Given the description of an element on the screen output the (x, y) to click on. 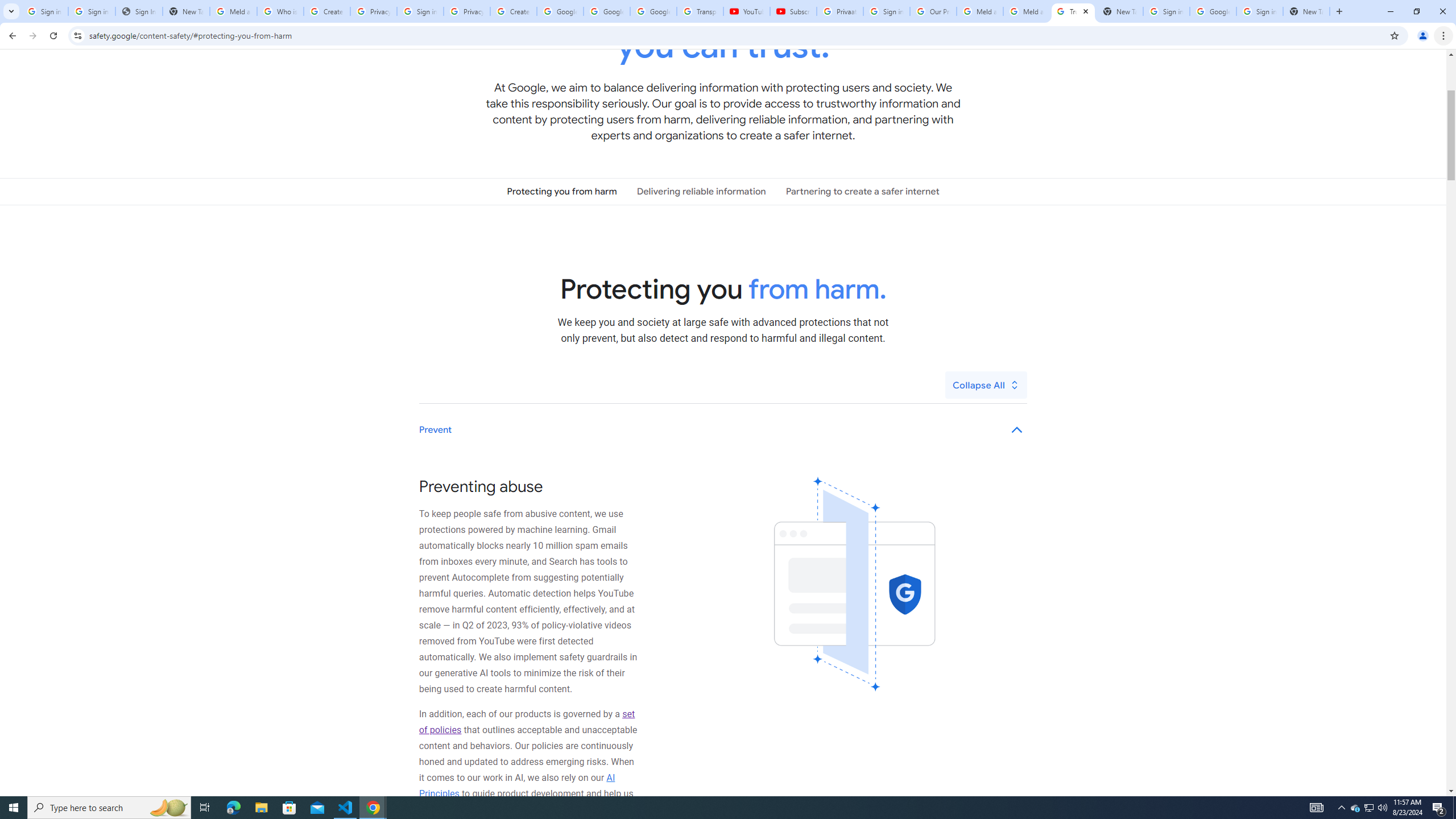
Sign In - USA TODAY (138, 11)
